Given the description of an element on the screen output the (x, y) to click on. 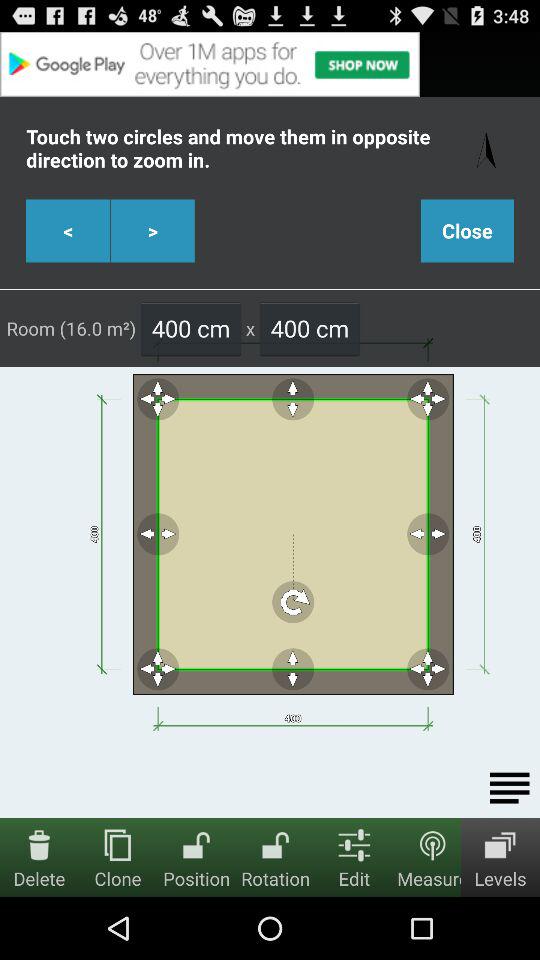
select the rotation icon (275, 844)
click on the position icon (197, 844)
select the left scroll (67, 231)
select the right scroll button (152, 231)
